Given the description of an element on the screen output the (x, y) to click on. 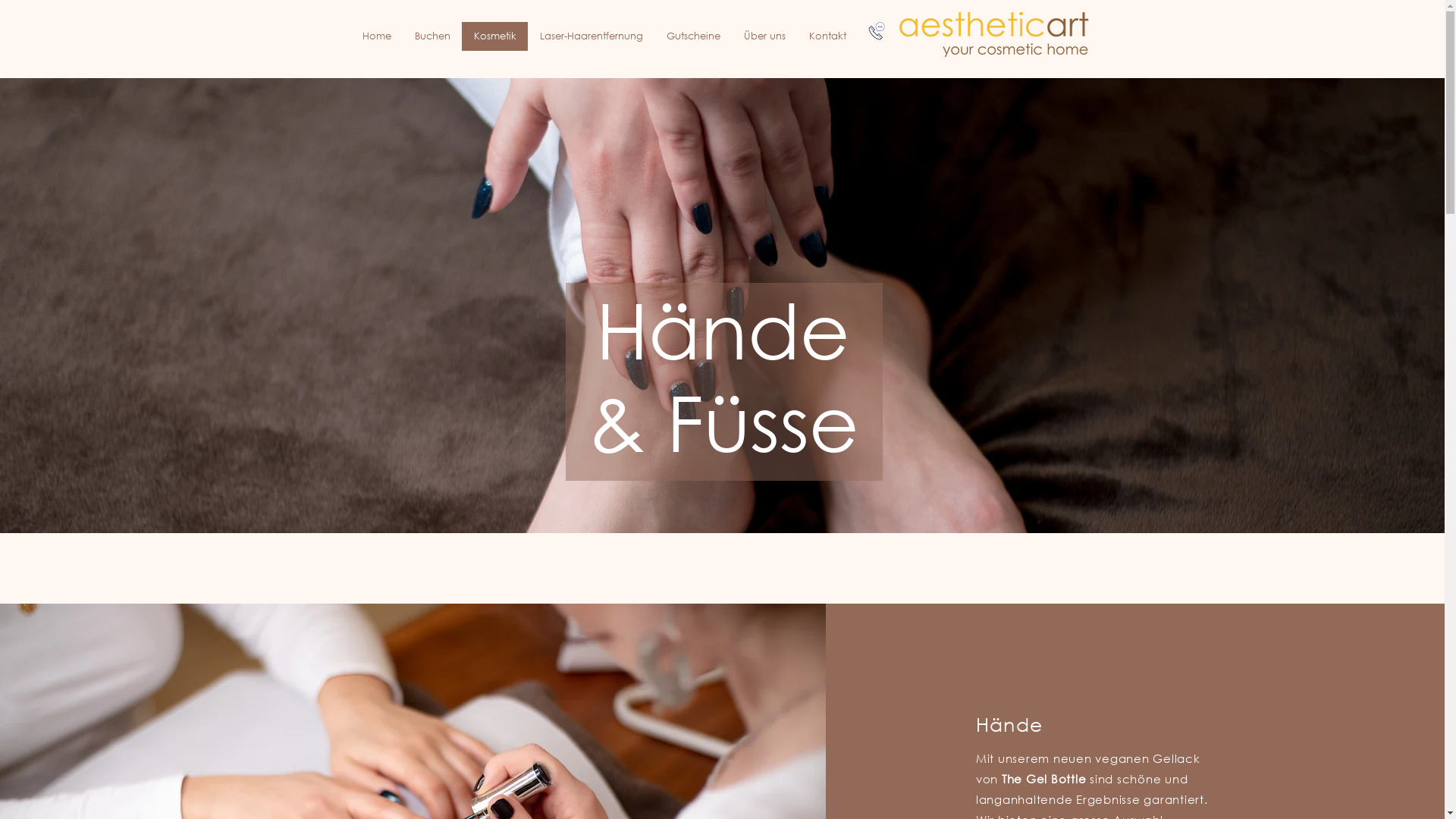
Gutscheine Element type: text (692, 35)
Home Element type: text (375, 35)
Kosmetik Element type: text (494, 35)
Kontakt Element type: text (826, 35)
Laser-Haarentfernung Element type: text (590, 35)
Buchen Element type: text (431, 35)
